Given the description of an element on the screen output the (x, y) to click on. 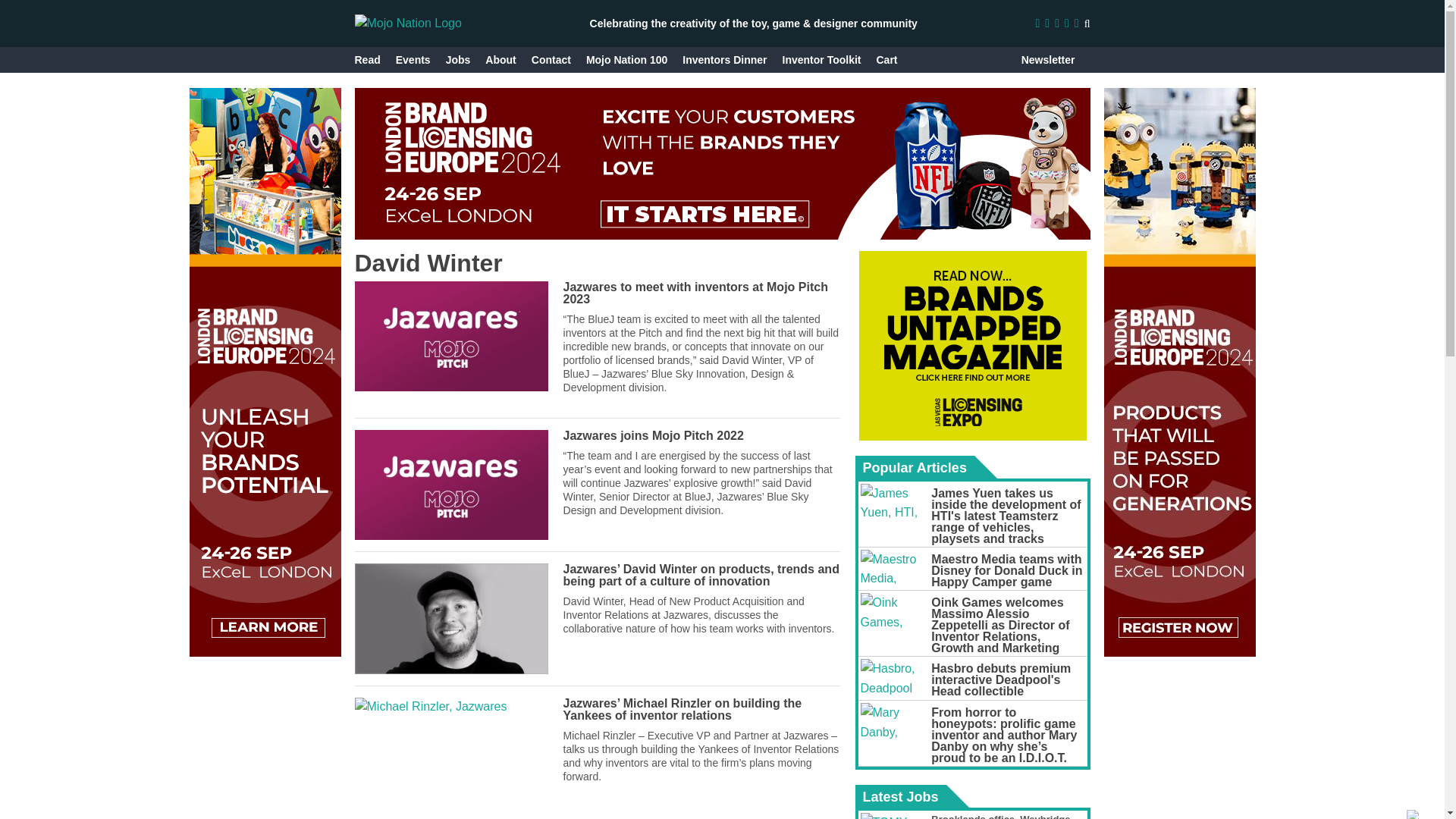
Read (367, 59)
Jobs (457, 59)
Mojo Nation 100 (626, 59)
Mojo Nation (408, 22)
Jazwares to meet with inventors at Mojo Pitch 2023 (451, 336)
Contact (550, 59)
About (499, 59)
Jazwares joins Mojo Pitch 2022 (653, 435)
Go (1072, 59)
Inventors Dinner (724, 59)
Newsletter (1048, 59)
Inventor Toolkit (822, 59)
Jazwares to meet with inventors at Mojo Pitch 2023 (695, 292)
Events (413, 59)
Jazwares to meet with inventors at Mojo Pitch 2023 (695, 292)
